Given the description of an element on the screen output the (x, y) to click on. 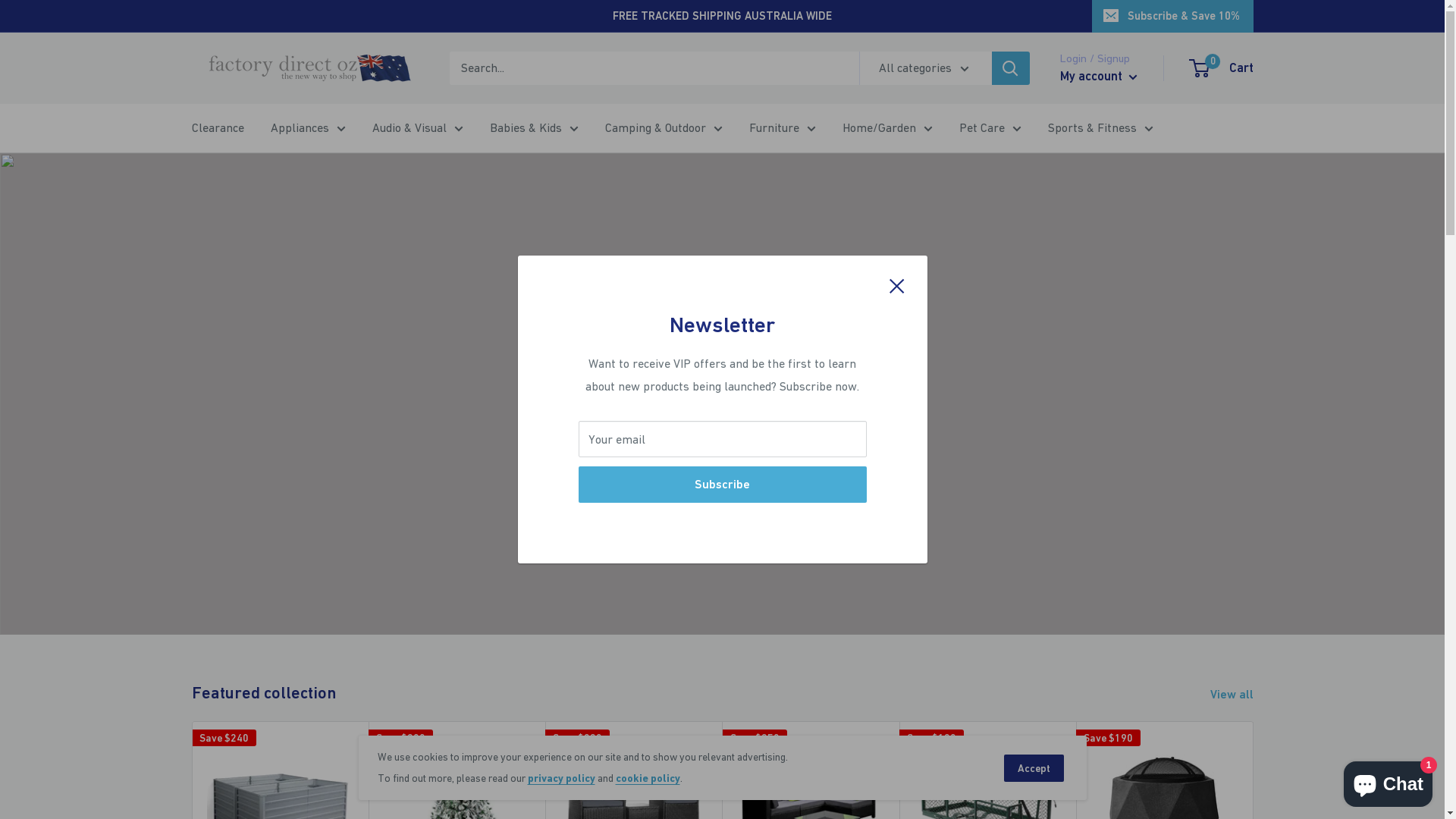
0
Cart Element type: text (1221, 68)
Furniture Element type: text (782, 127)
My account Element type: text (1098, 76)
Appliances Element type: text (307, 127)
Home/Garden Element type: text (886, 127)
cookie policy Element type: text (647, 777)
Babies & Kids Element type: text (533, 127)
Pet Care Element type: text (989, 127)
privacy policy Element type: text (561, 777)
Clearance Element type: text (217, 127)
Sports & Fitness Element type: text (1100, 127)
Audio & Visual Element type: text (416, 127)
Camping & Outdoor Element type: text (663, 127)
Accept Element type: text (1033, 767)
Subscribe & Save 10% Element type: text (1172, 15)
View all Element type: text (1241, 694)
Shopify online store chat Element type: hover (1388, 780)
